Given the description of an element on the screen output the (x, y) to click on. 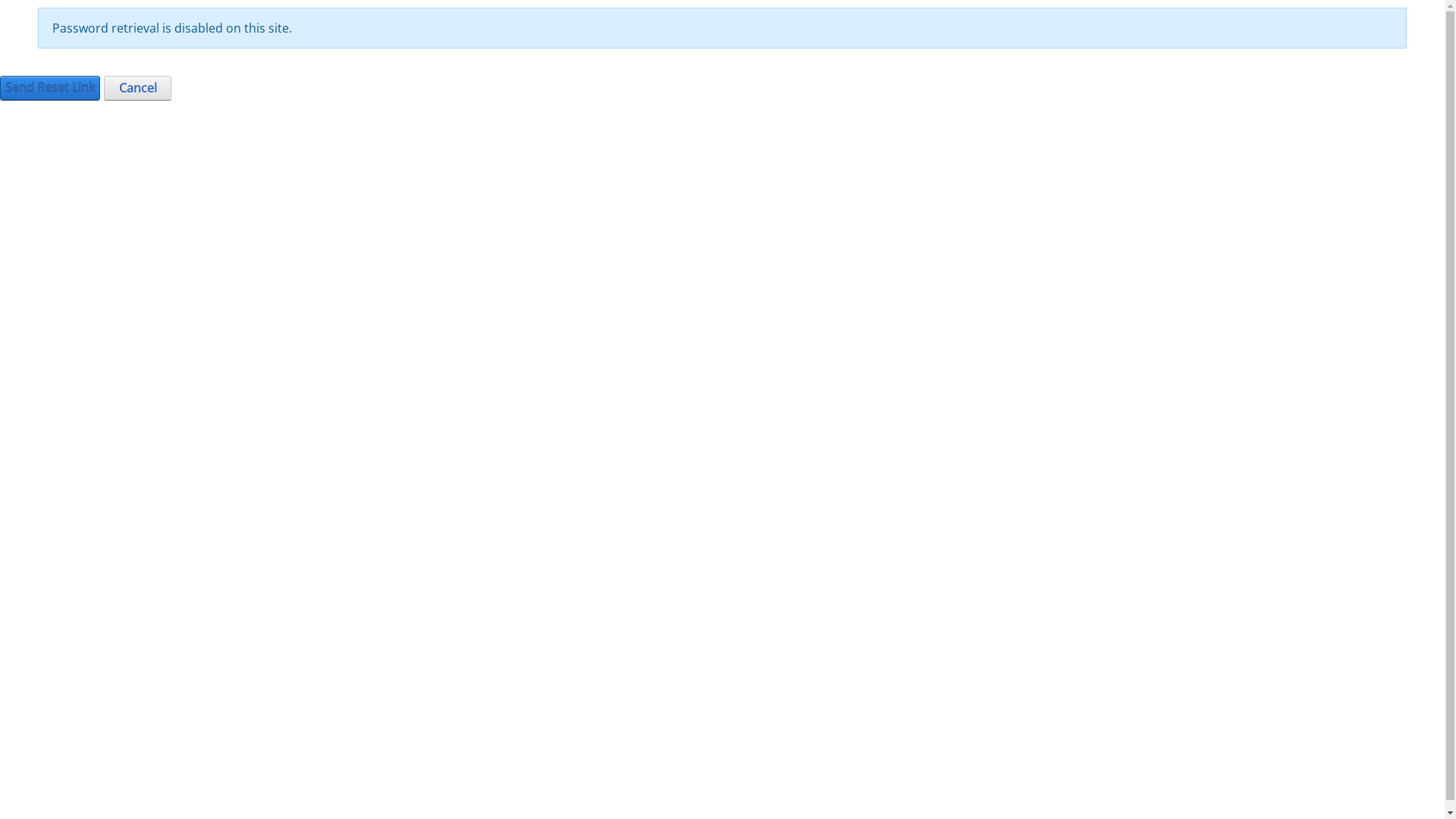
Cancel Element type: text (137, 87)
Send Reset Link Element type: text (50, 87)
